Given the description of an element on the screen output the (x, y) to click on. 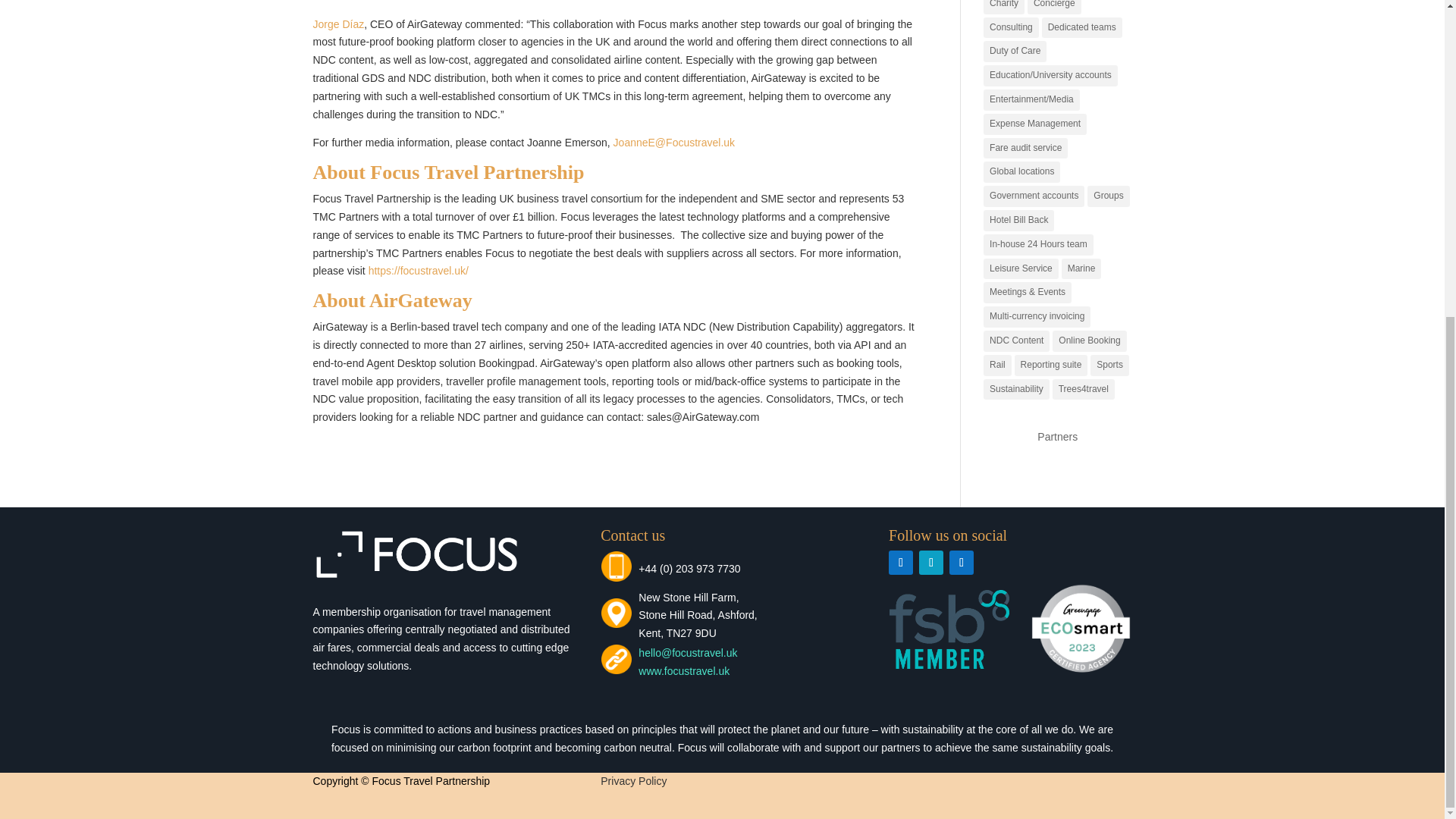
Partners (1056, 436)
Follow on Twitter (930, 562)
Follow on LinkedIn (900, 562)
Focus Travel (681, 671)
Charity (1004, 7)
Dedicated teams (1082, 27)
Follow on Facebook (961, 562)
Consulting (1011, 27)
Expense Management (1035, 124)
Concierge (1054, 7)
